Given the description of an element on the screen output the (x, y) to click on. 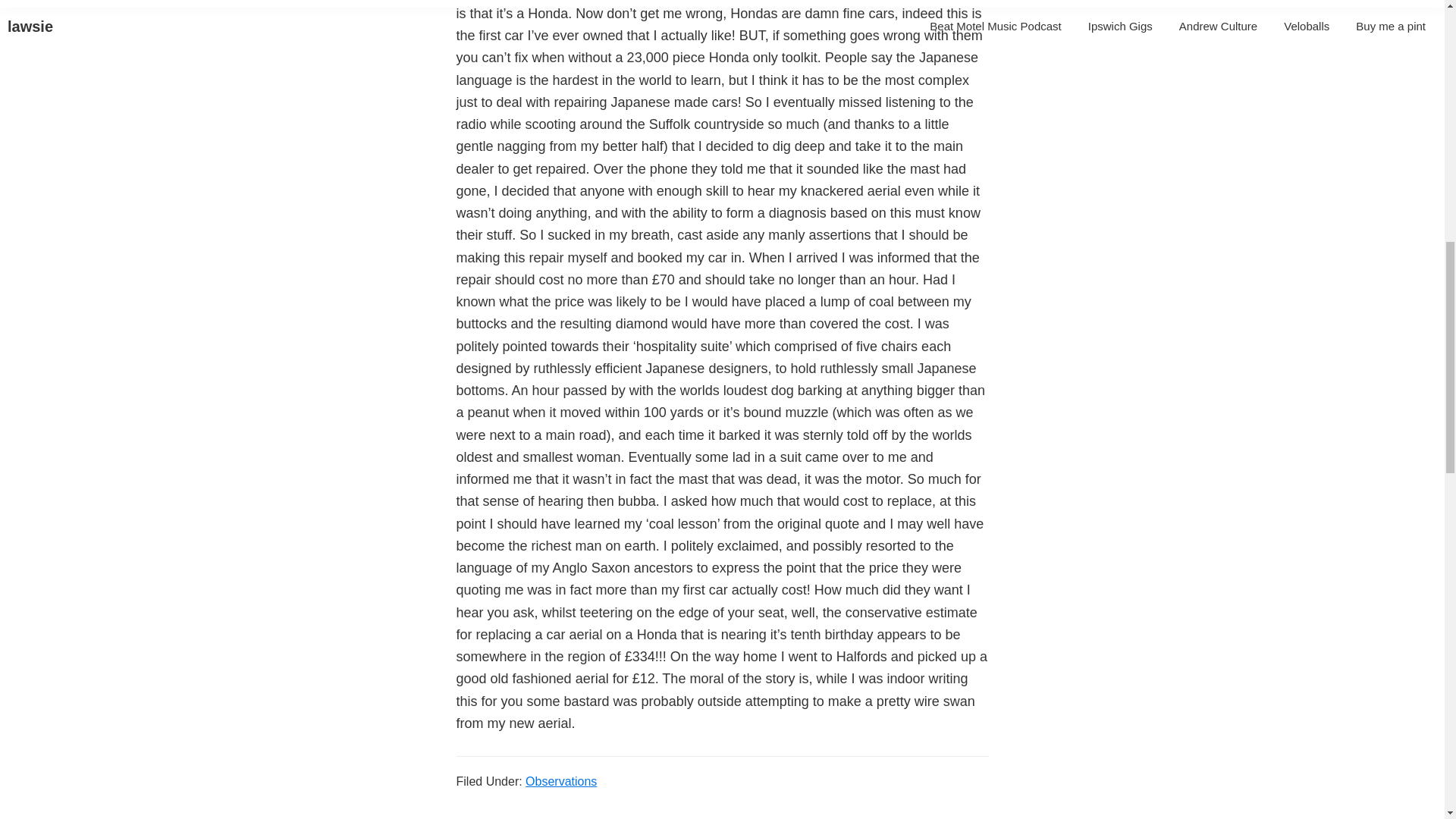
Observations (560, 780)
